Given the description of an element on the screen output the (x, y) to click on. 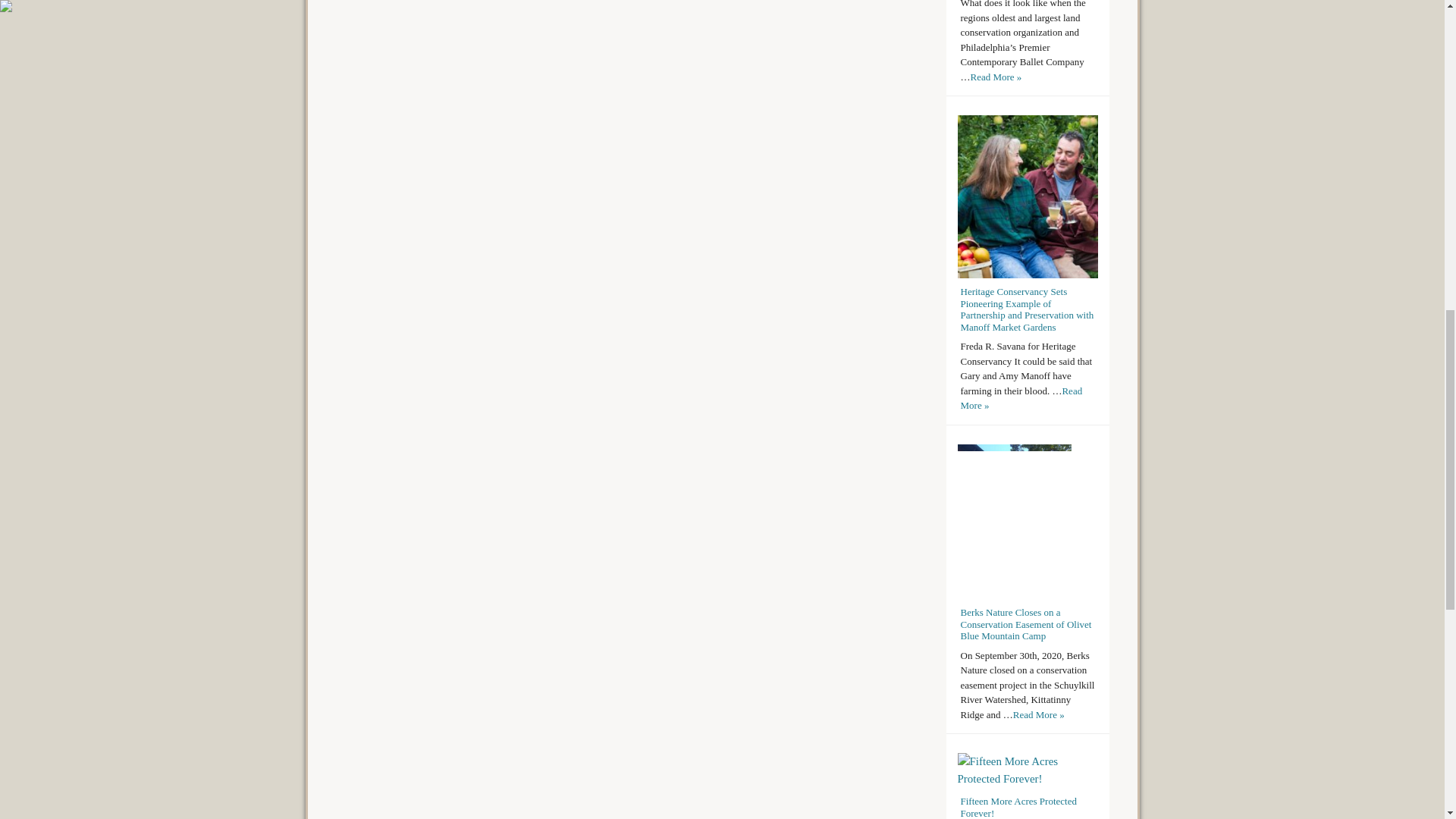
Permalink to Fifteen More Acres Protected Forever! (1017, 807)
